Given the description of an element on the screen output the (x, y) to click on. 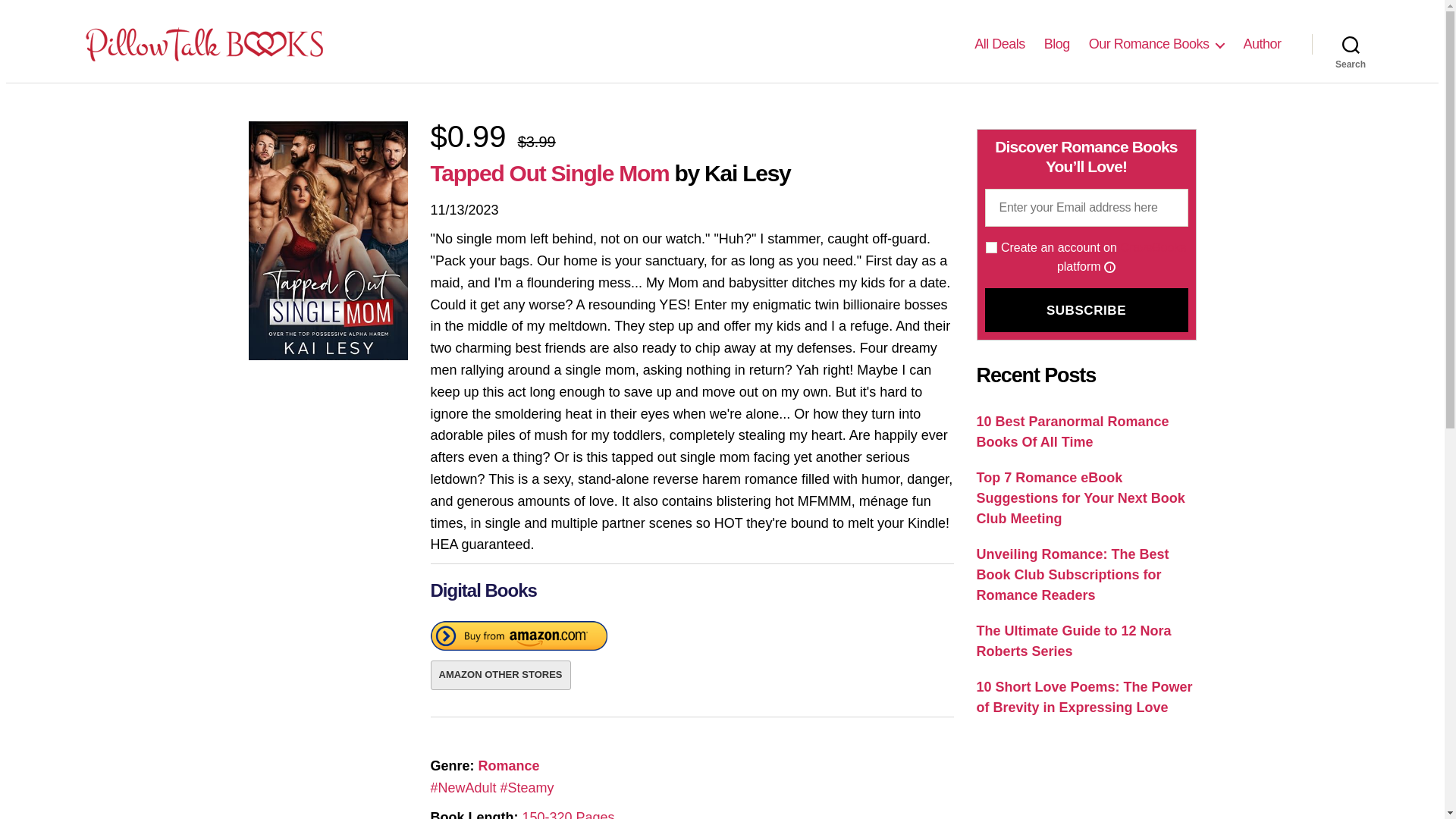
true (991, 247)
Blog (1056, 44)
Amazon (518, 638)
Author (1262, 44)
Subscribe (1086, 310)
All Deals (999, 44)
Our Romance Books (1156, 44)
Search (1350, 43)
